Given the description of an element on the screen output the (x, y) to click on. 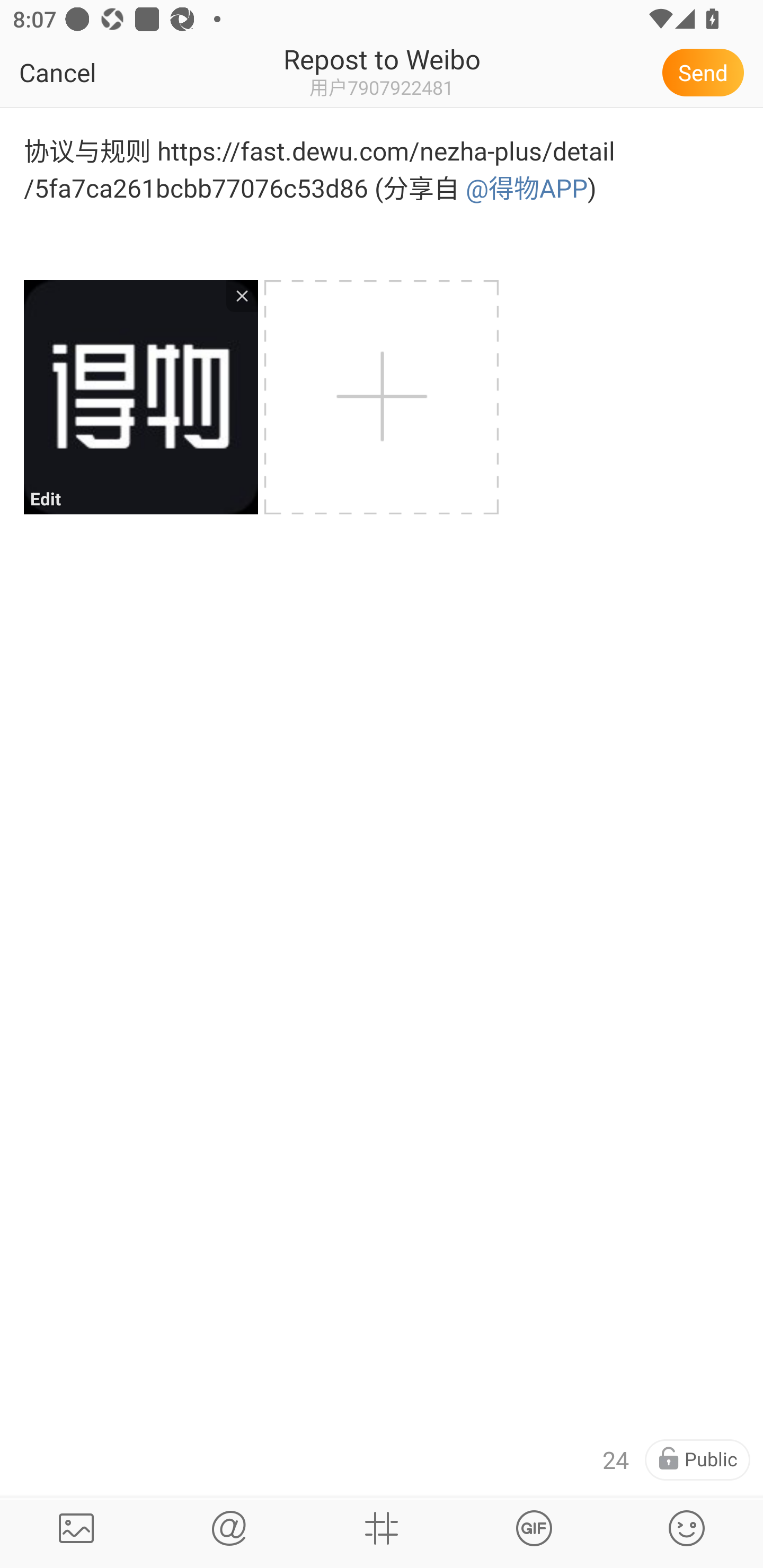
Cancel (99, 71)
Send (706, 71)
Edit (140, 397)
Meyou Public (697, 1459)
24 Number of words available: (615, 1459)
Pictures Upload (76, 1527)
Search (228, 1527)
Topics, movies, books, songs, places, stocks (381, 1527)
Topics, movies, books, songs, places, stocks (533, 1527)
请插入表情 (686, 1527)
